Given the description of an element on the screen output the (x, y) to click on. 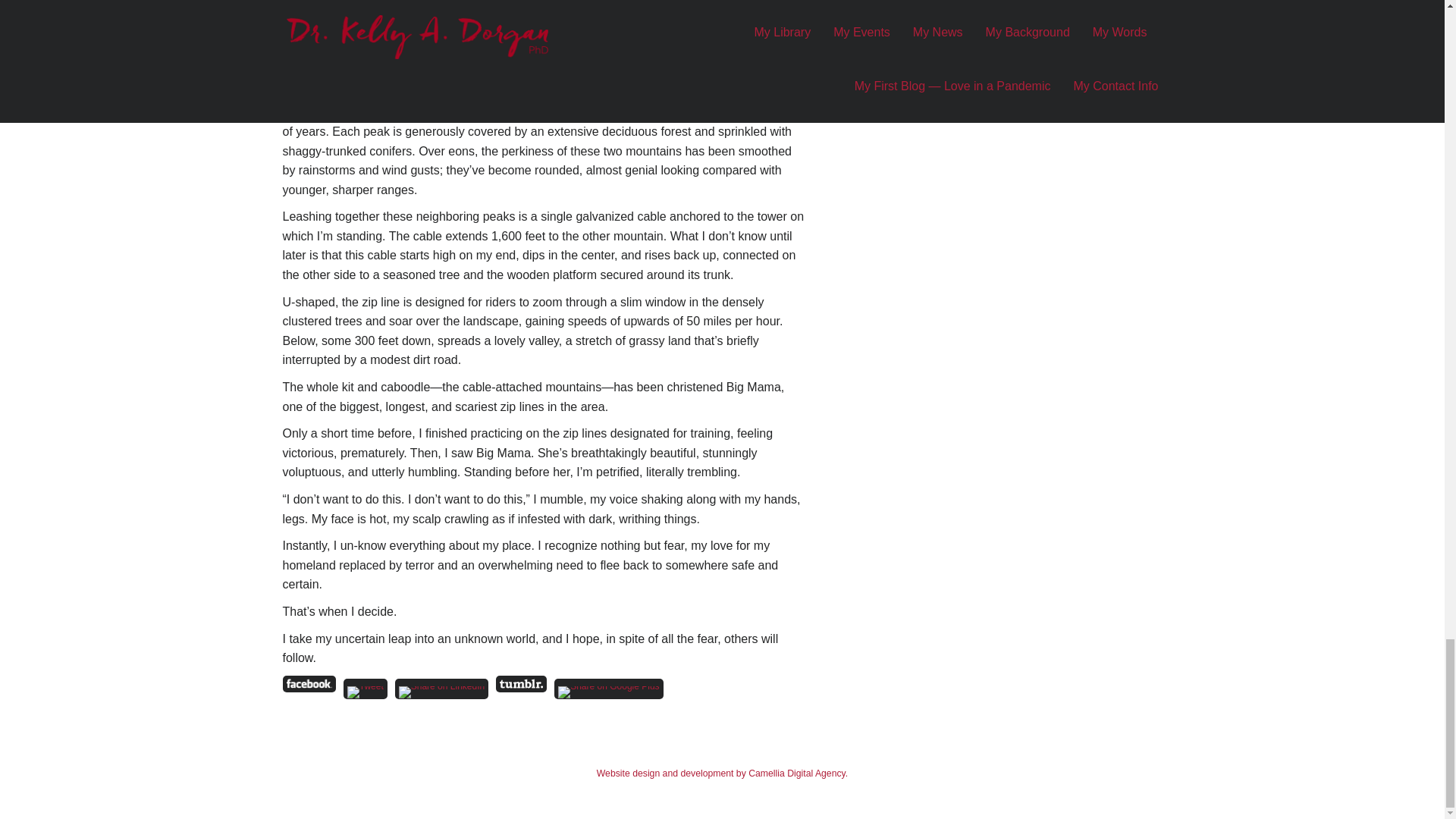
Share on Tumblr (521, 683)
Share on Facebook (308, 683)
Website design and development by Camellia Digital Agency. (721, 773)
